Given the description of an element on the screen output the (x, y) to click on. 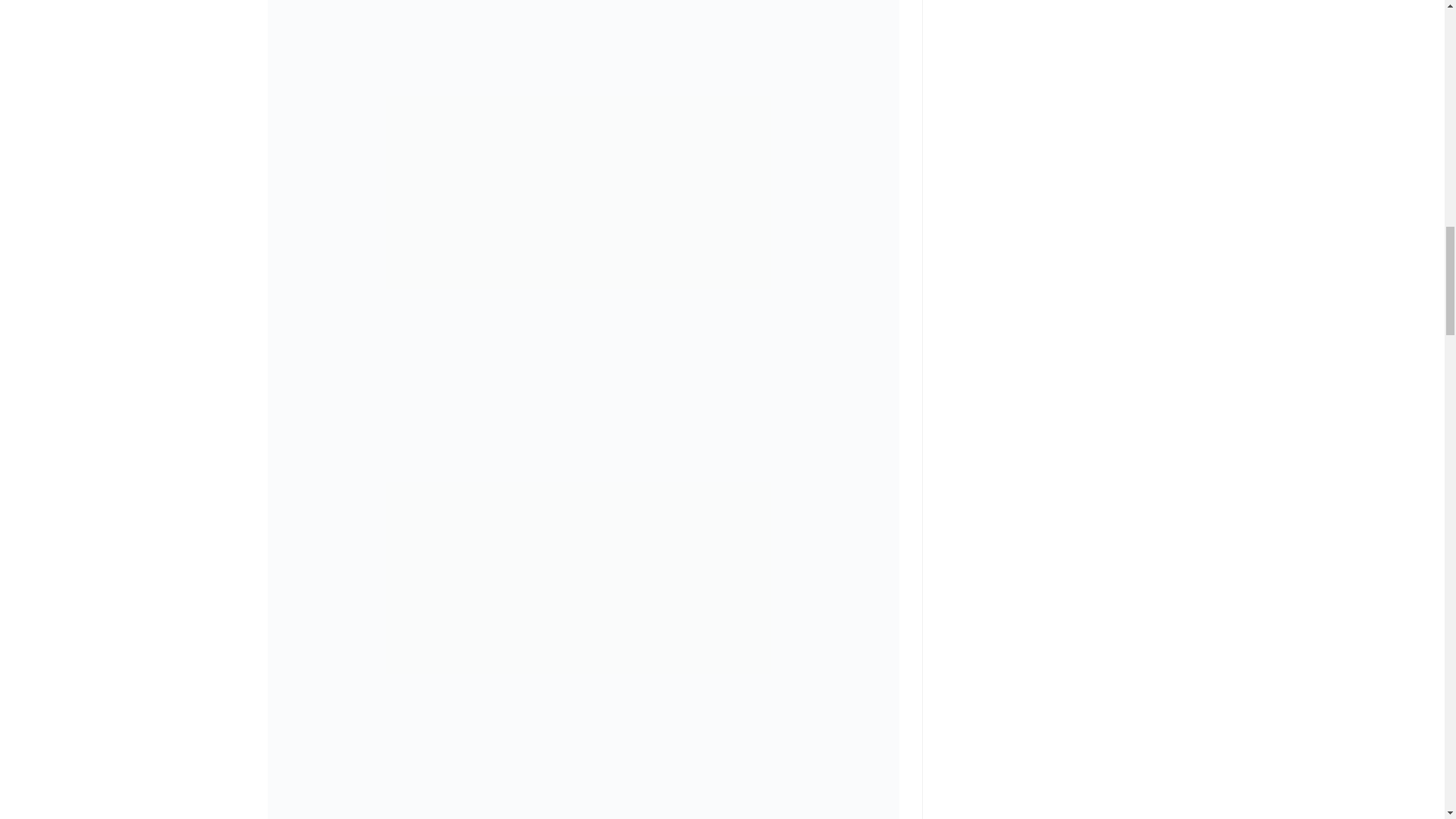
Artist in Paris 11 (582, 21)
Artist in Paris 8 (582, 799)
